Given the description of an element on the screen output the (x, y) to click on. 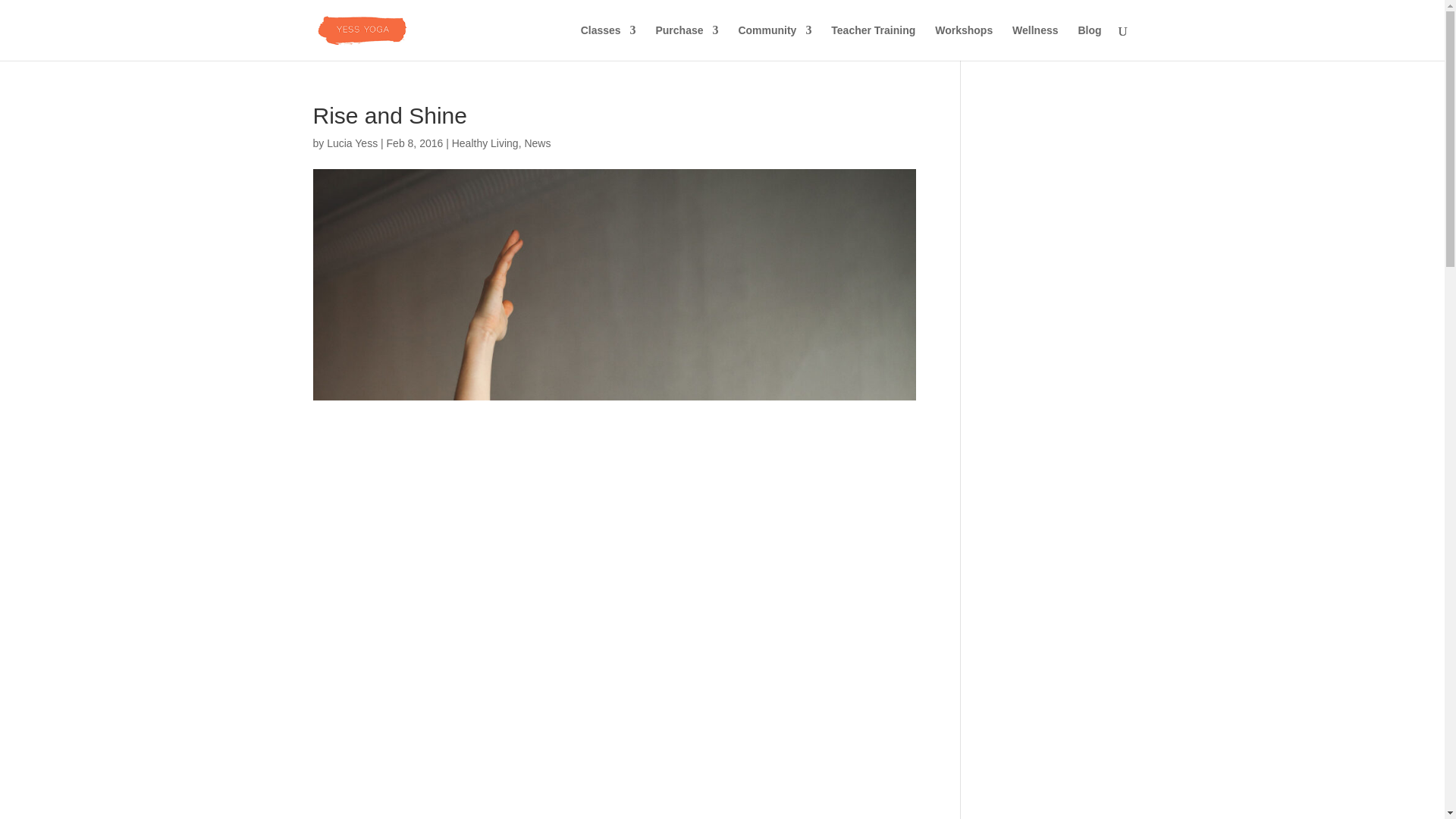
Teacher Training (873, 42)
Lucia Yess (351, 143)
Wellness (1034, 42)
Community (774, 42)
Purchase (686, 42)
News (537, 143)
Workshops (963, 42)
Classes (608, 42)
Posts by Lucia Yess (351, 143)
Healthy Living (484, 143)
